Given the description of an element on the screen output the (x, y) to click on. 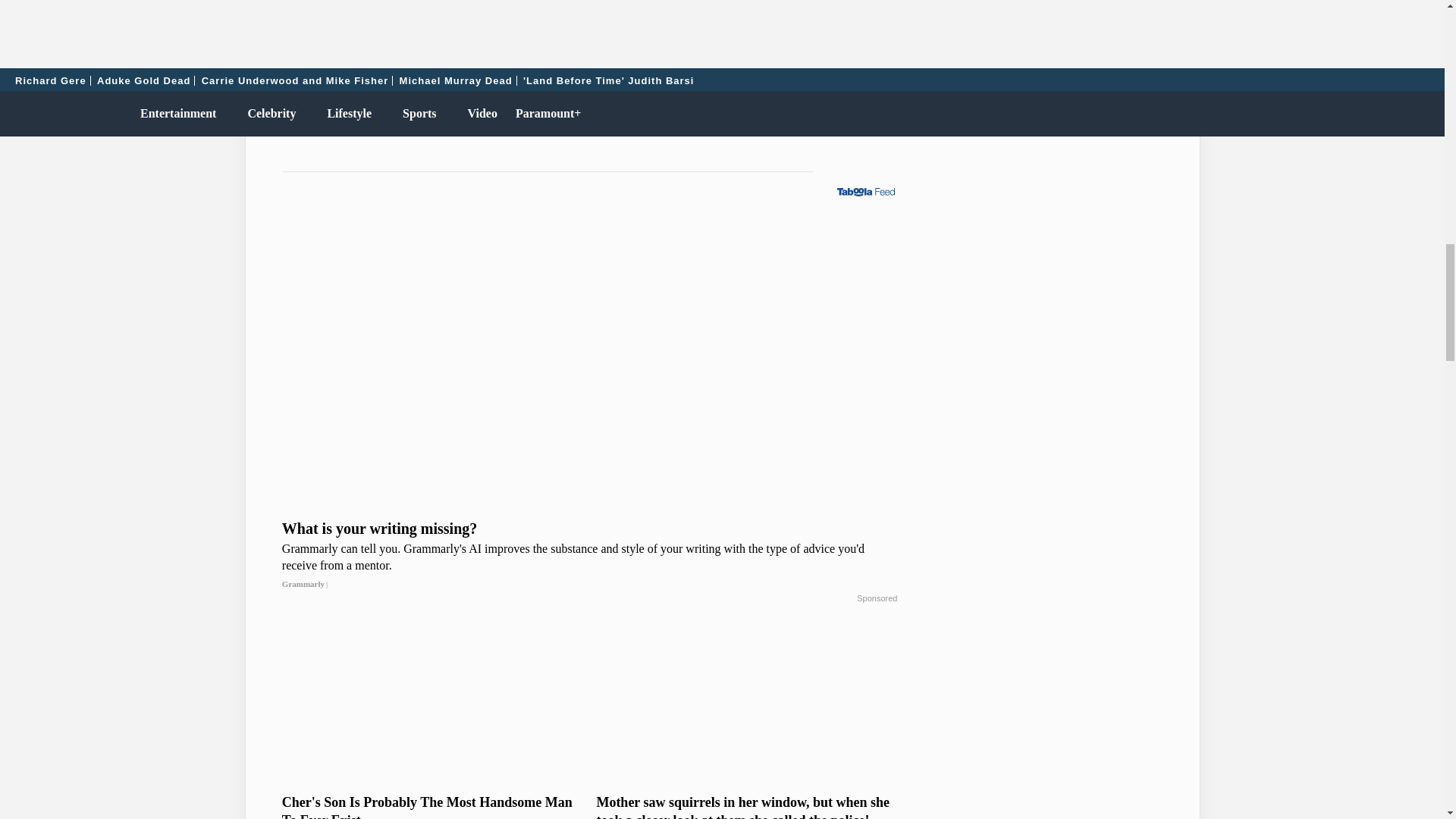
What is your writing missing? (590, 556)
Cher's Son Is Probably The Most Handsome Man To Ever Exist (432, 806)
